Given the description of an element on the screen output the (x, y) to click on. 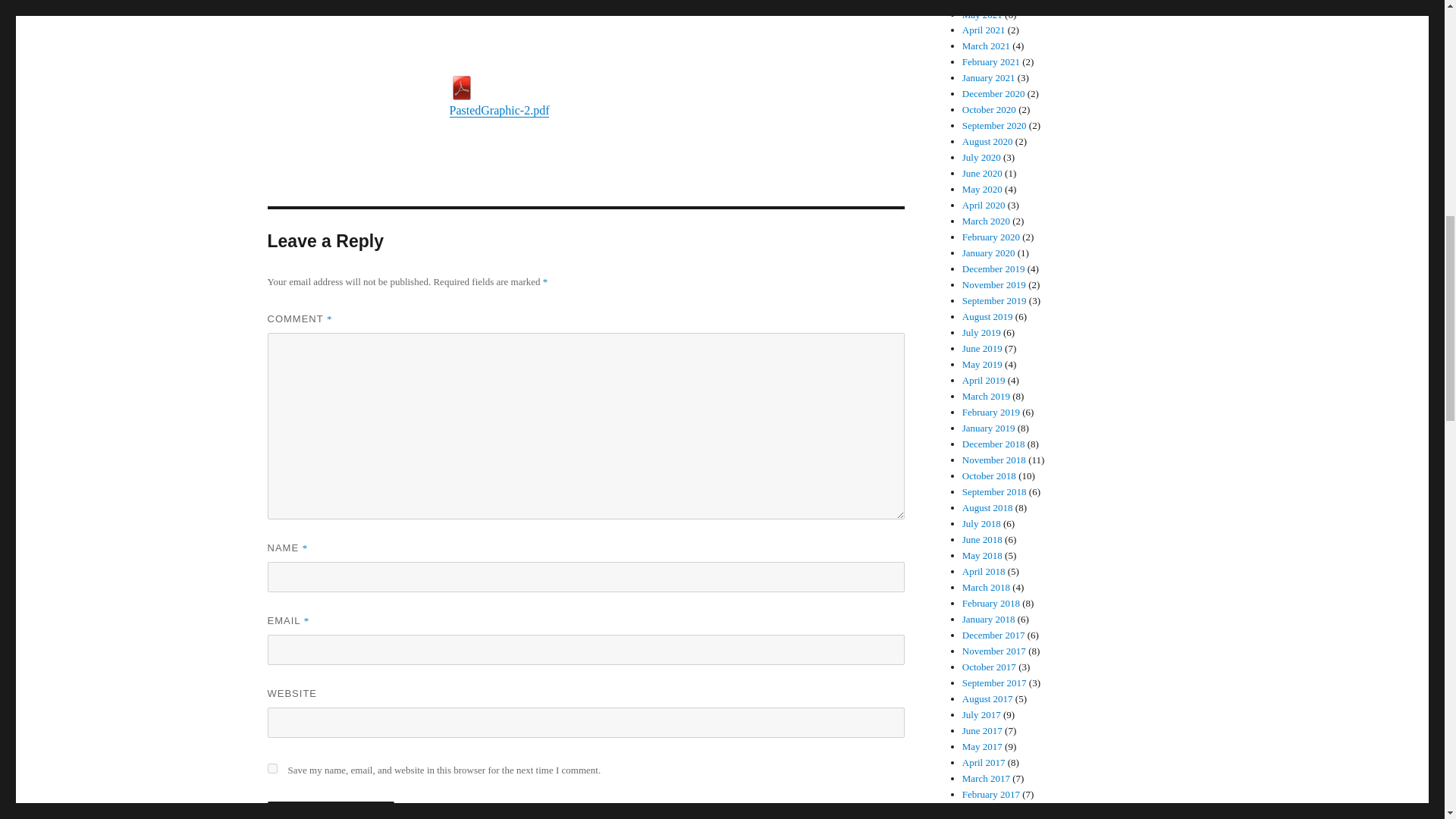
PastedGraphic-2.pdf (676, 96)
March 2021 (986, 45)
June 2021 (982, 2)
yes (271, 768)
Post Comment (330, 810)
May 2021 (982, 14)
Post Comment (330, 810)
February 2021 (991, 61)
April 2021 (984, 30)
